Given the description of an element on the screen output the (x, y) to click on. 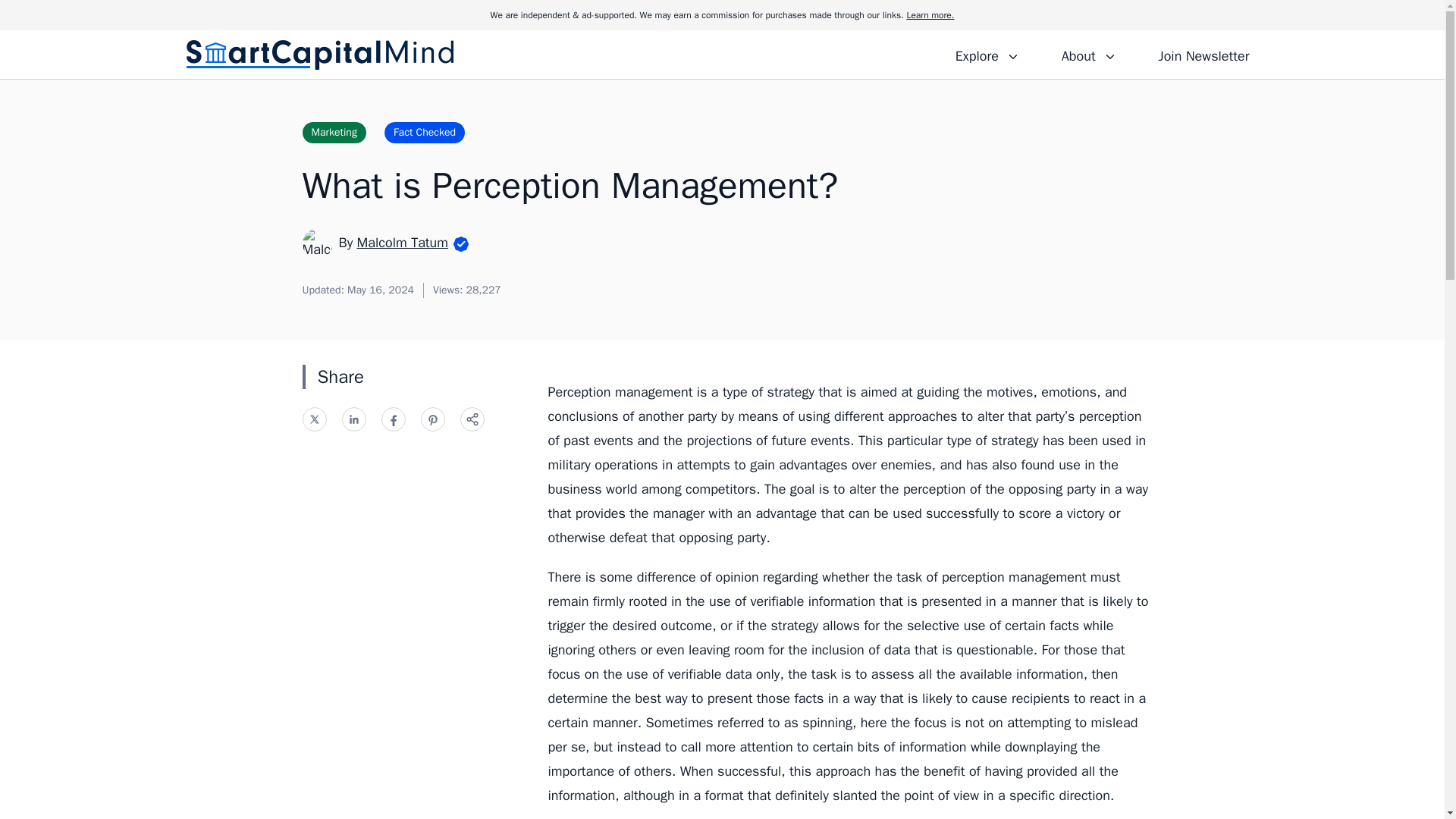
Explore (986, 54)
Marketing (333, 132)
Learn more. (929, 15)
Fact Checked (424, 132)
Malcolm Tatum (402, 242)
About (1088, 54)
Join Newsletter (1202, 54)
